Given the description of an element on the screen output the (x, y) to click on. 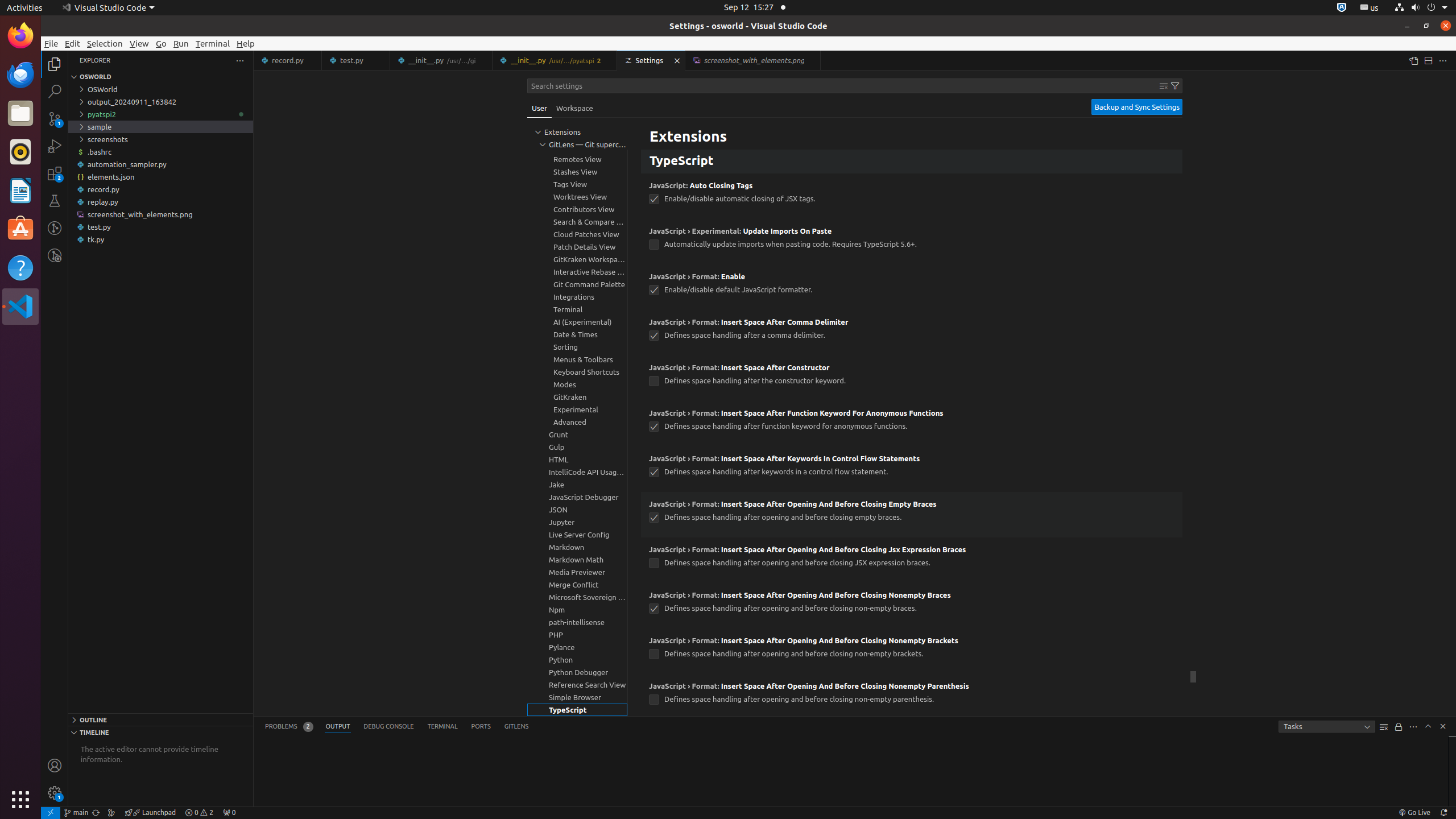
elements.json Element type: tree-item (160, 176)
Testing Element type: page-tab (54, 200)
Branches View, group Element type: tree-item (577, 146)
GitKraken, group Element type: tree-item (577, 396)
PHP, group Element type: tree-item (577, 634)
